Given the description of an element on the screen output the (x, y) to click on. 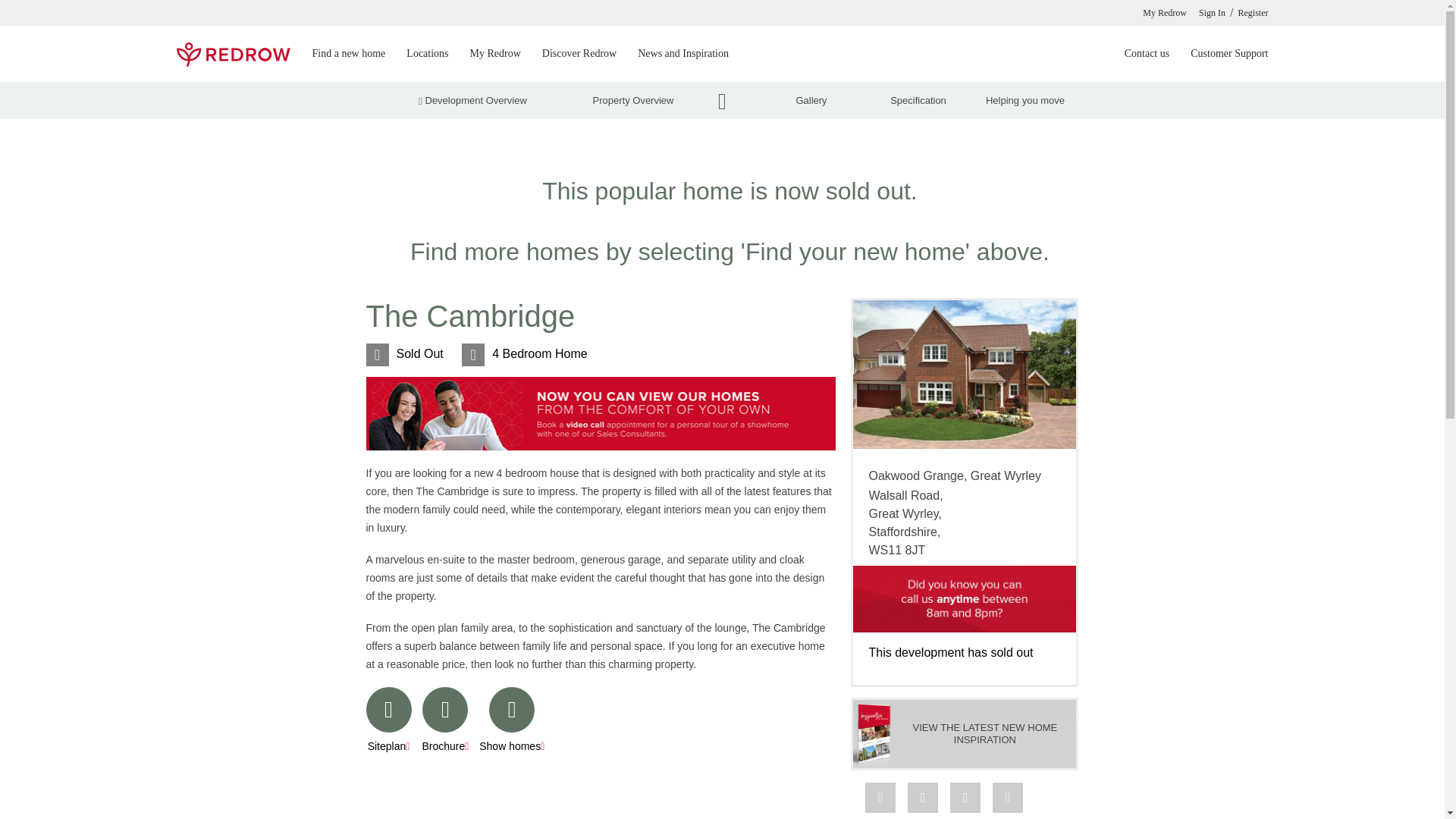
Find a new home (349, 52)
Discover Redrow (578, 52)
Sign In (1211, 12)
Redrow (232, 54)
Register (1252, 12)
tweet about this (922, 797)
Locations (427, 52)
My Redrow (495, 52)
My Redrow (1164, 12)
